Given the description of an element on the screen output the (x, y) to click on. 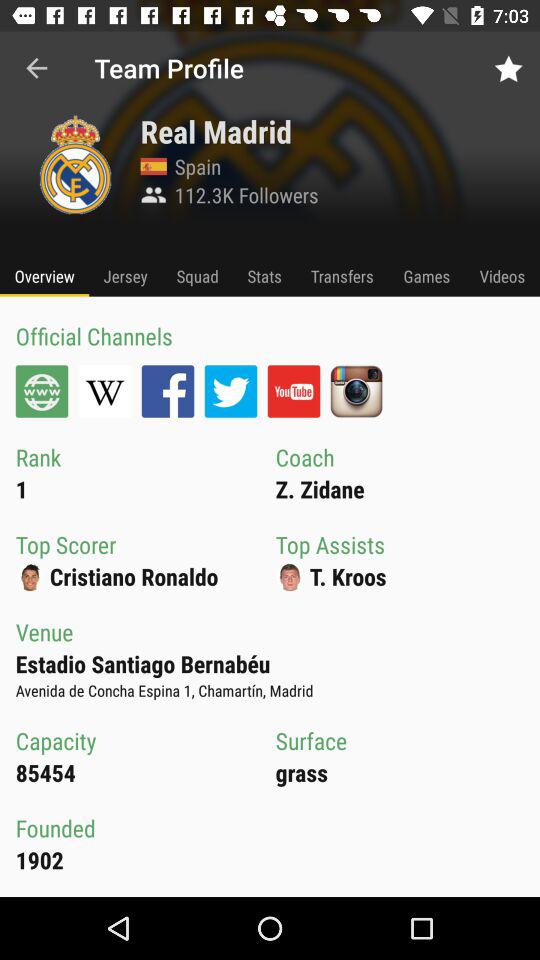
launch the icon above the coach (293, 391)
